Given the description of an element on the screen output the (x, y) to click on. 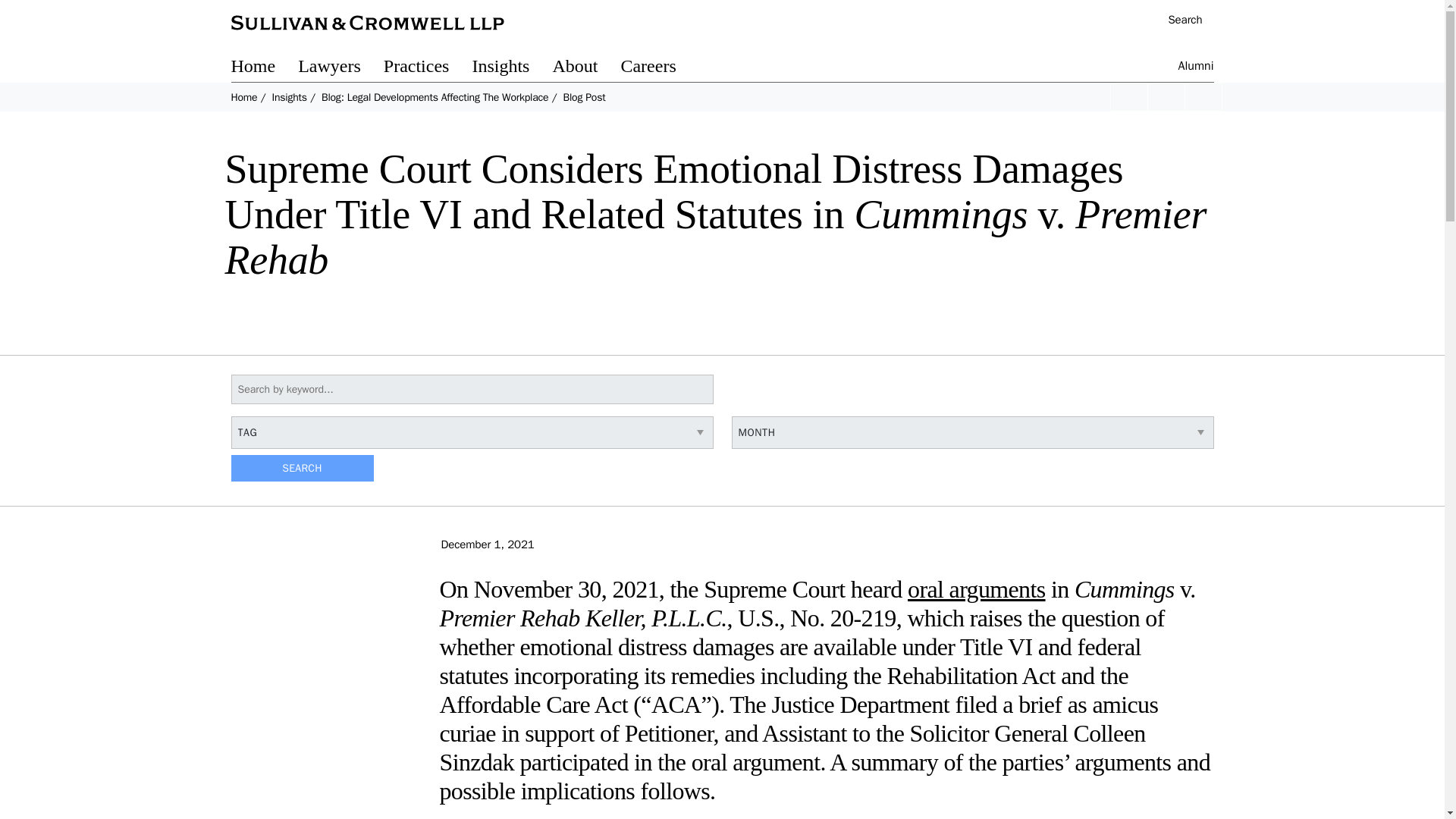
SEARCH (301, 468)
Lawyers (341, 67)
Home (243, 97)
Insights (287, 97)
About (585, 67)
Search (1176, 20)
Practices (427, 67)
Careers (659, 67)
Blog: Legal Developments Affecting The Workplace (434, 97)
Alumni (1195, 67)
